Given the description of an element on the screen output the (x, y) to click on. 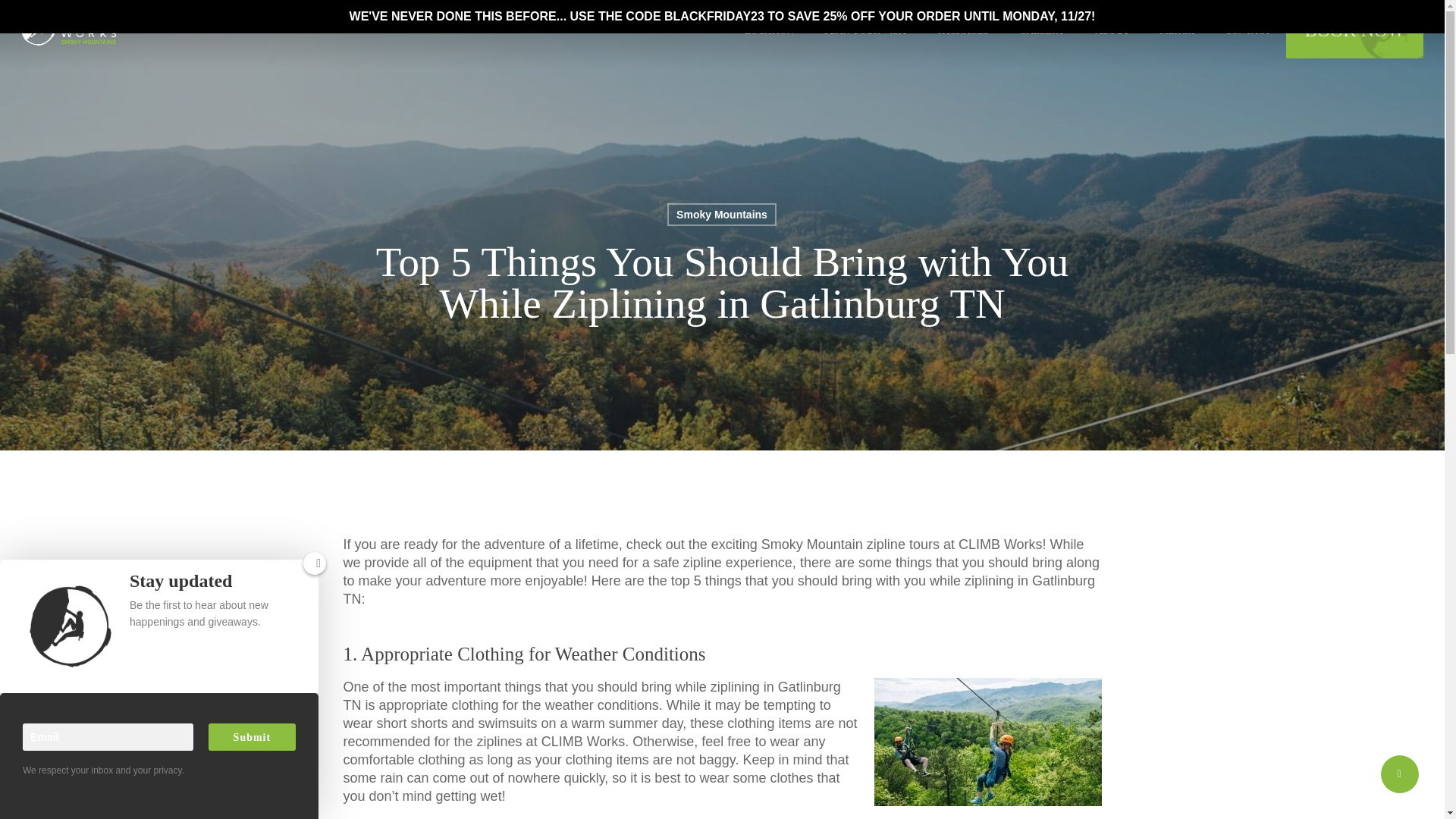
MERCH (1176, 29)
BOOK NOW (1354, 29)
Smoky Mountains (721, 214)
CONTACT (1247, 29)
PLAN YOUR VISIT (866, 29)
ABOUT (1112, 29)
LOCATION (769, 29)
GALLERY (1042, 29)
PACKAGES (963, 29)
